Given the description of an element on the screen output the (x, y) to click on. 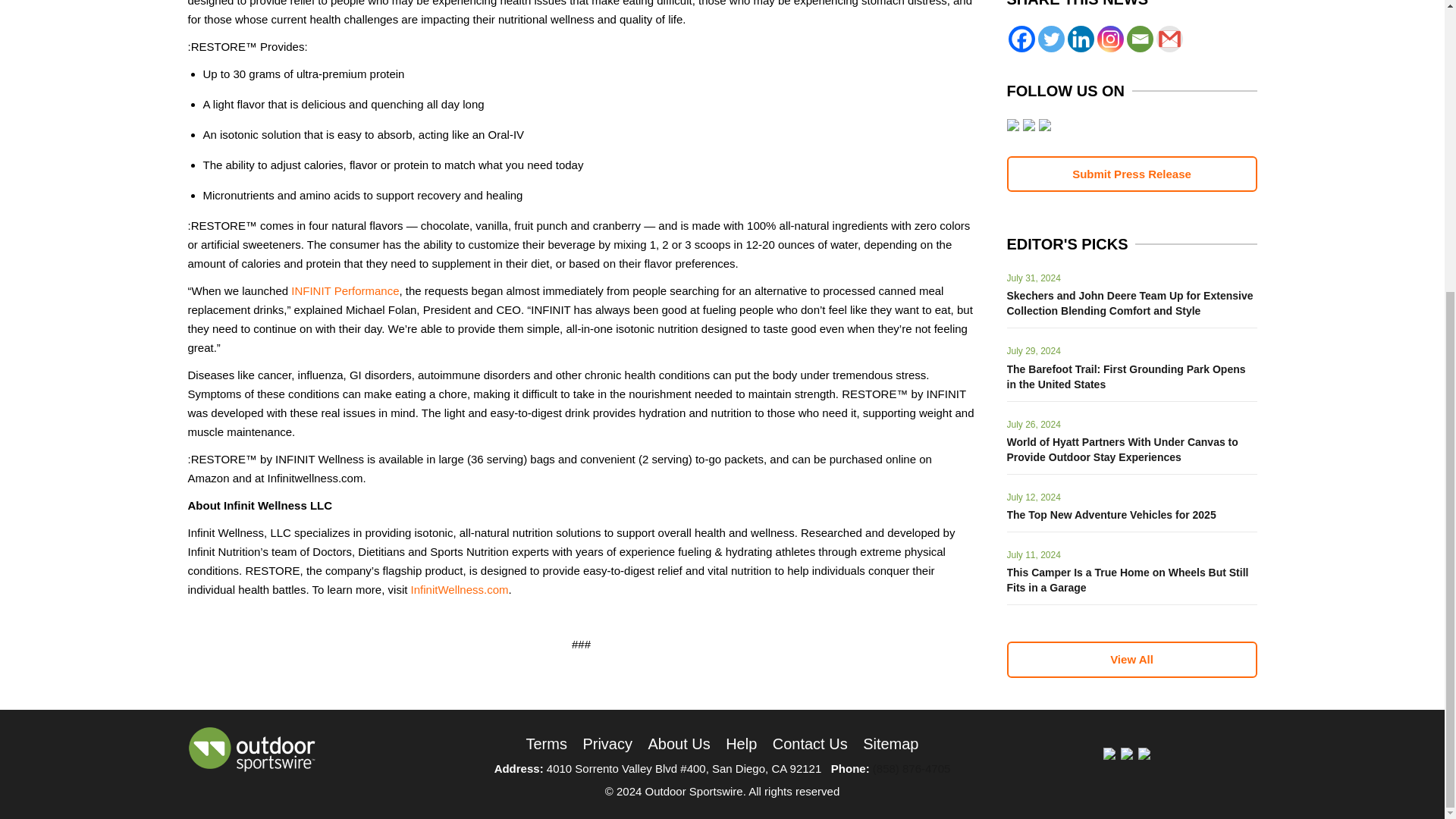
Google Gmail (1169, 38)
Instagram (1109, 38)
Email (1139, 38)
Facebook (1022, 38)
Twitter (1050, 38)
Linkedin (1080, 38)
